Given the description of an element on the screen output the (x, y) to click on. 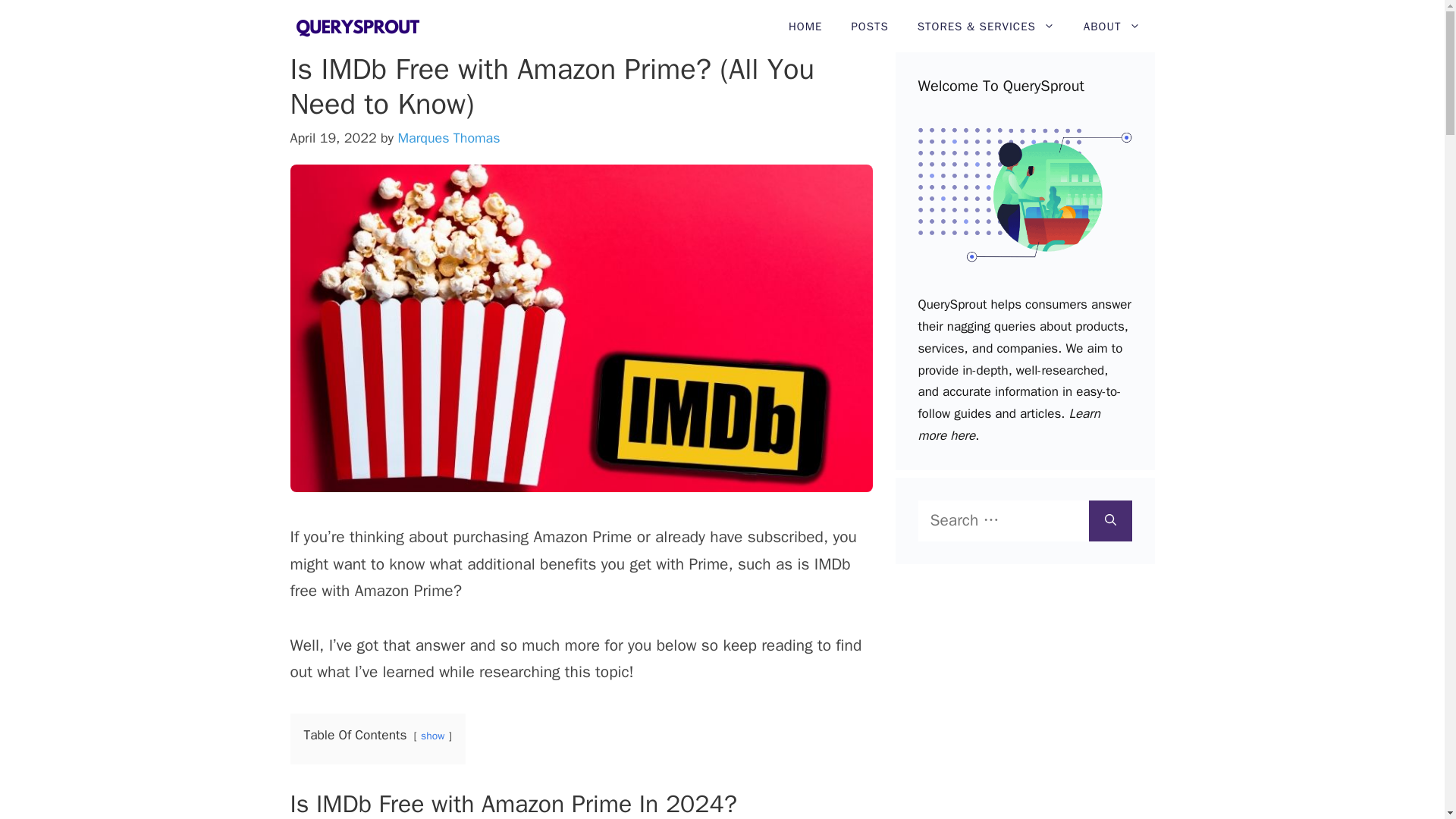
show (432, 735)
Search for: (1002, 520)
View all posts by Marques Thomas (448, 137)
Marques Thomas (448, 137)
ABOUT (1111, 26)
HOME (804, 26)
POSTS (868, 26)
